Given the description of an element on the screen output the (x, y) to click on. 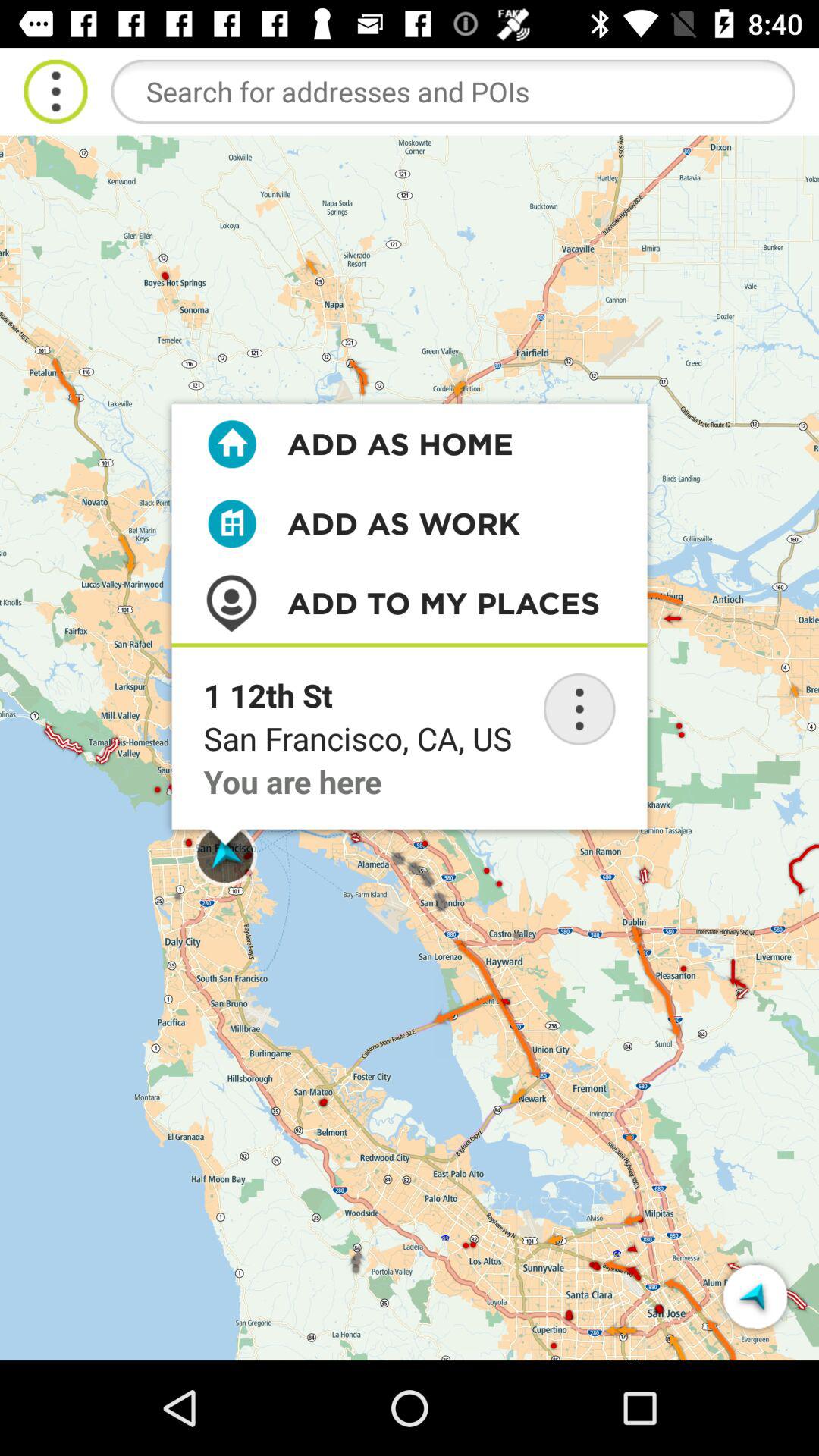
location watch option (579, 709)
